Given the description of an element on the screen output the (x, y) to click on. 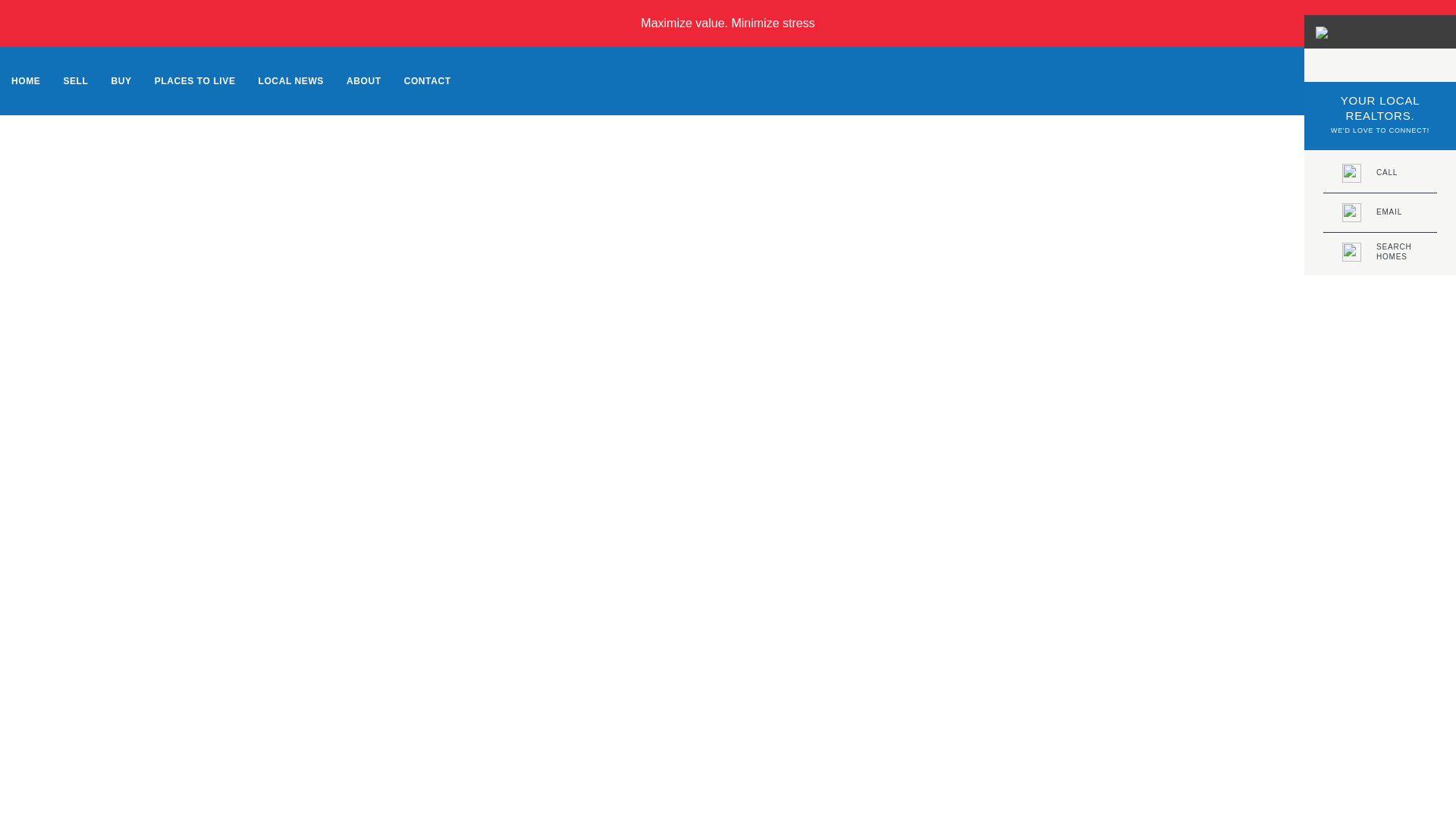
CALL (1380, 173)
Maximize value. Minimize stress (726, 22)
EMAIL (1380, 212)
PLACES TO LIVE (194, 80)
CONTACT (1380, 251)
LOCAL NEWS (428, 80)
